Given the description of an element on the screen output the (x, y) to click on. 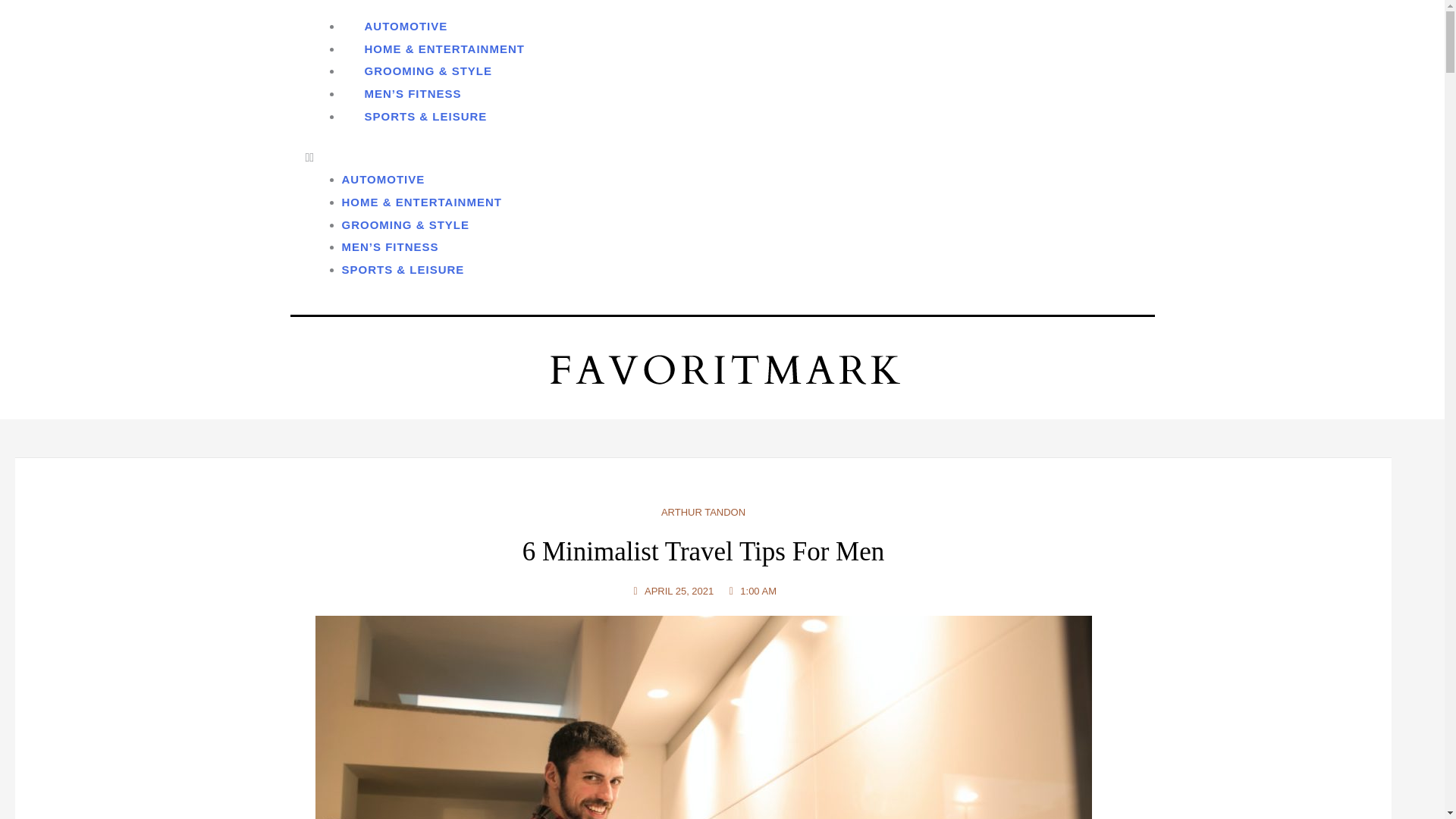
AUTOMOTIVE (405, 25)
APRIL 25, 2021 (671, 591)
AUTOMOTIVE (382, 178)
